Given the description of an element on the screen output the (x, y) to click on. 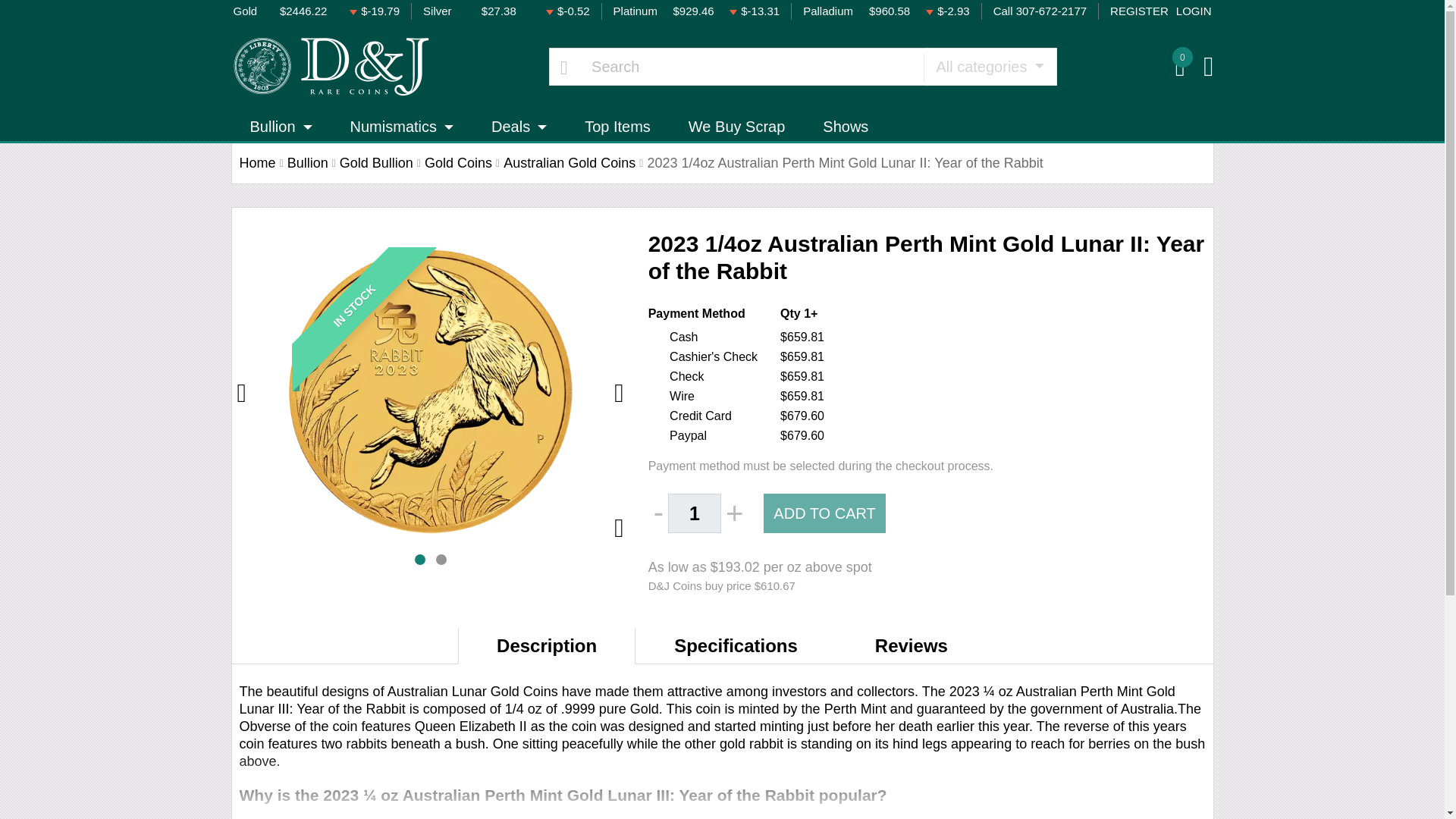
Bullion (280, 126)
1 (694, 513)
LOGIN (1193, 11)
REGISTER (1139, 11)
All categories (990, 66)
